Given the description of an element on the screen output the (x, y) to click on. 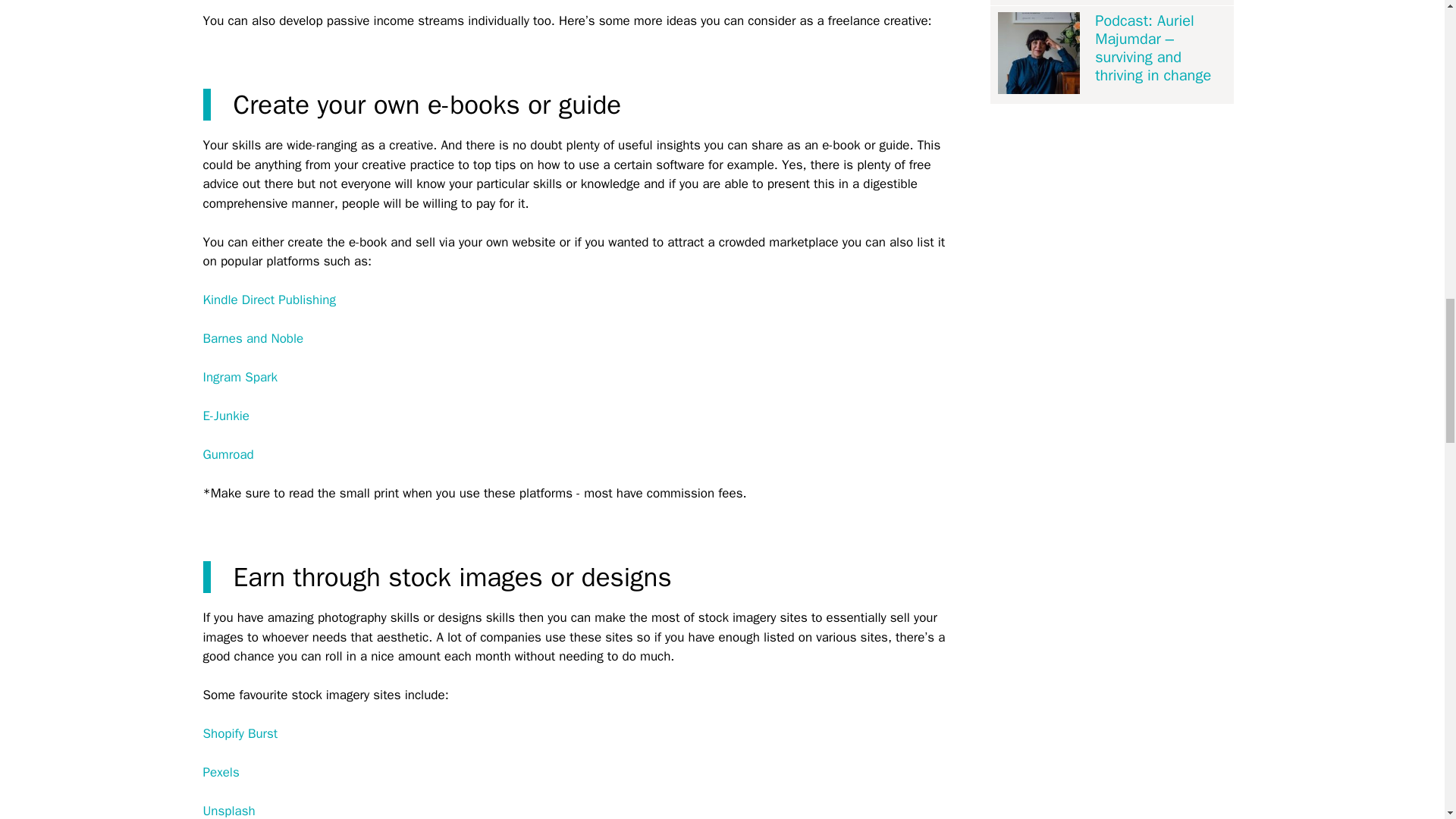
Pexels (221, 772)
Kindle Direct Publishing (269, 299)
Gumroad (228, 454)
Shopify Burst (240, 733)
Barnes and Noble (253, 338)
Unsplash (229, 811)
Ingram Spark (240, 376)
E-Junkie (225, 415)
